Given the description of an element on the screen output the (x, y) to click on. 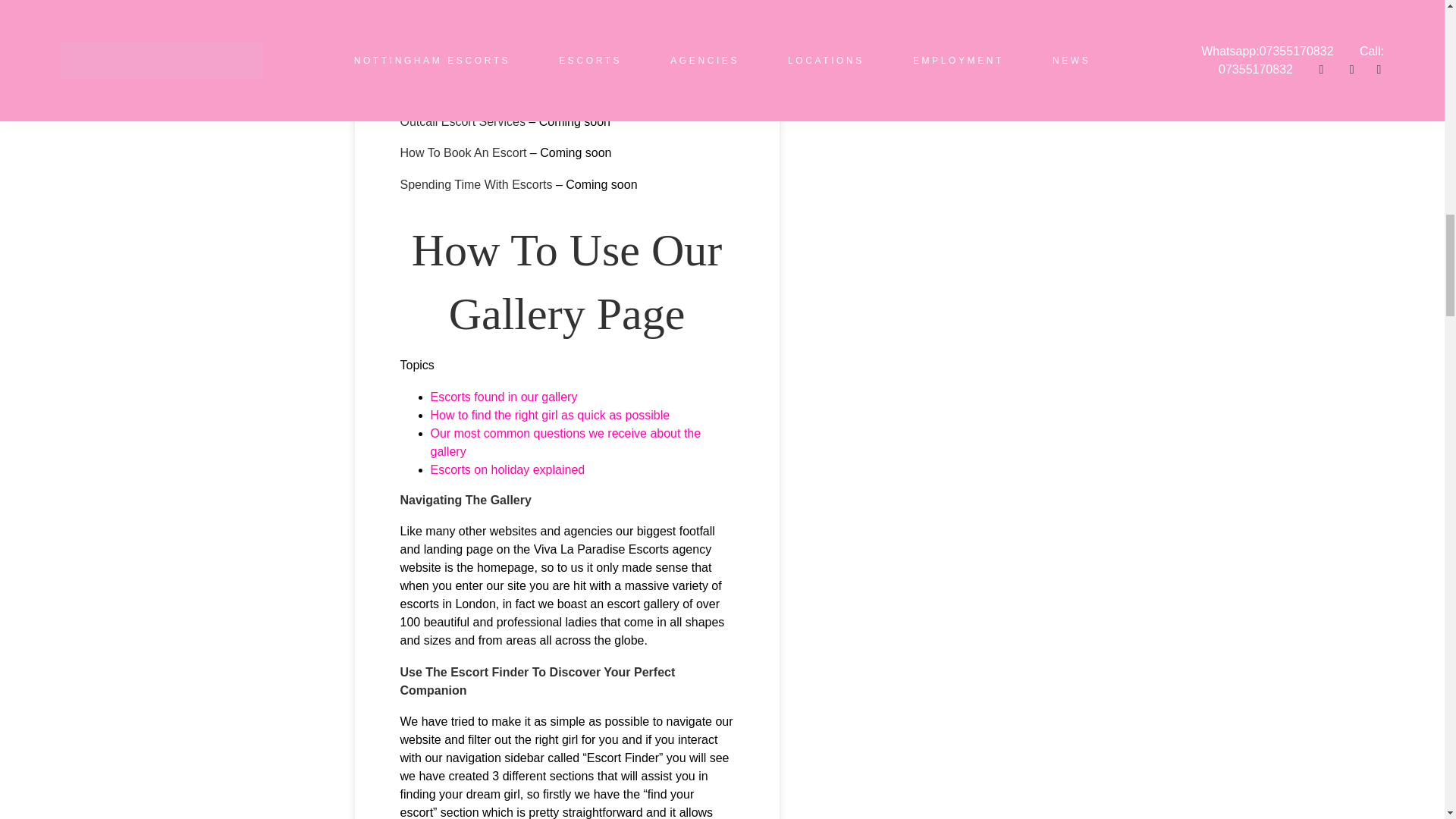
Girls Profiles (434, 26)
Duo Escorts (432, 58)
Spending Time With Escorts (476, 184)
Incall Escort Services (458, 89)
Outcall Escort Services (462, 121)
How To Book An Escort (463, 152)
